Given the description of an element on the screen output the (x, y) to click on. 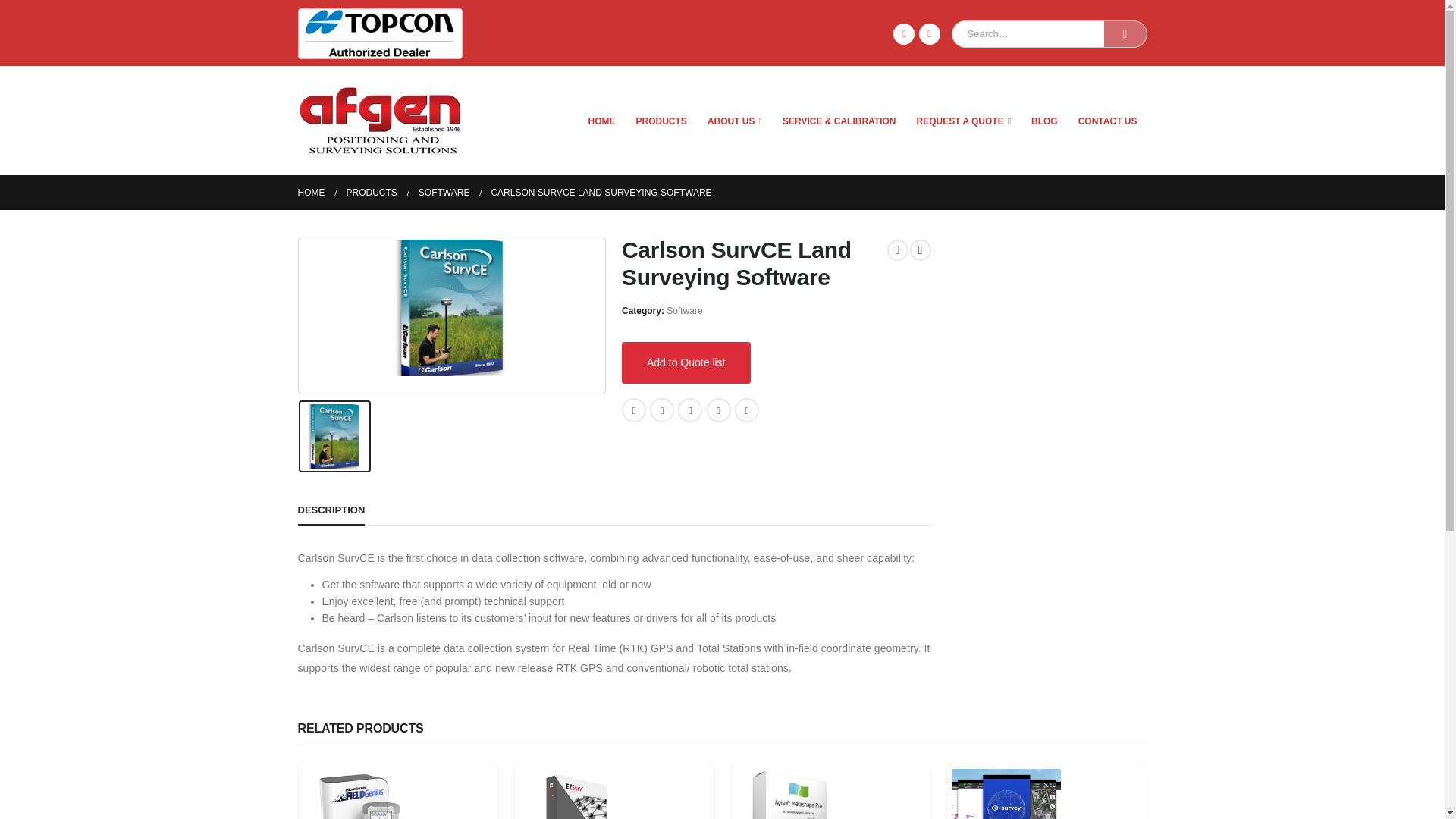
PRODUCTS (661, 120)
SurvCE (451, 315)
HOME (602, 120)
Go to Home Page (310, 192)
PRODUCTS (371, 192)
REQUEST A QUOTE (964, 120)
ABOUT US (734, 120)
HOME (310, 192)
Facebook (903, 33)
Search (1125, 33)
CONTACT US (1107, 120)
LinkedIn (929, 33)
BLOG (1044, 120)
Afgen - Surveying Equipment Specialists (379, 120)
